Given the description of an element on the screen output the (x, y) to click on. 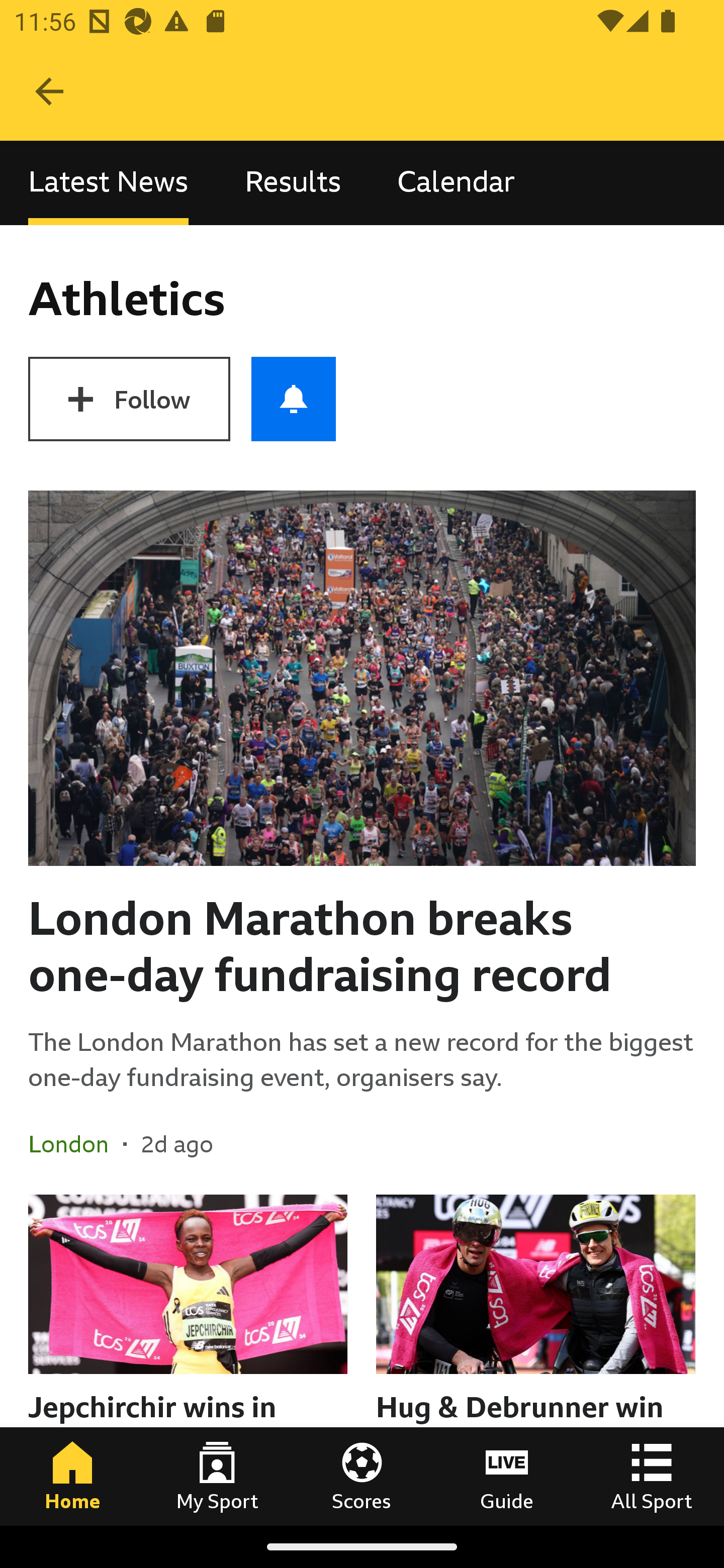
Navigate up (49, 91)
Latest News, selected Latest News (108, 183)
Results (292, 183)
Calendar (456, 183)
Follow Athletics Follow (129, 398)
Push notifications for Athletics (293, 398)
London In the section London (75, 1143)
My Sport (216, 1475)
Scores (361, 1475)
Guide (506, 1475)
All Sport (651, 1475)
